Given the description of an element on the screen output the (x, y) to click on. 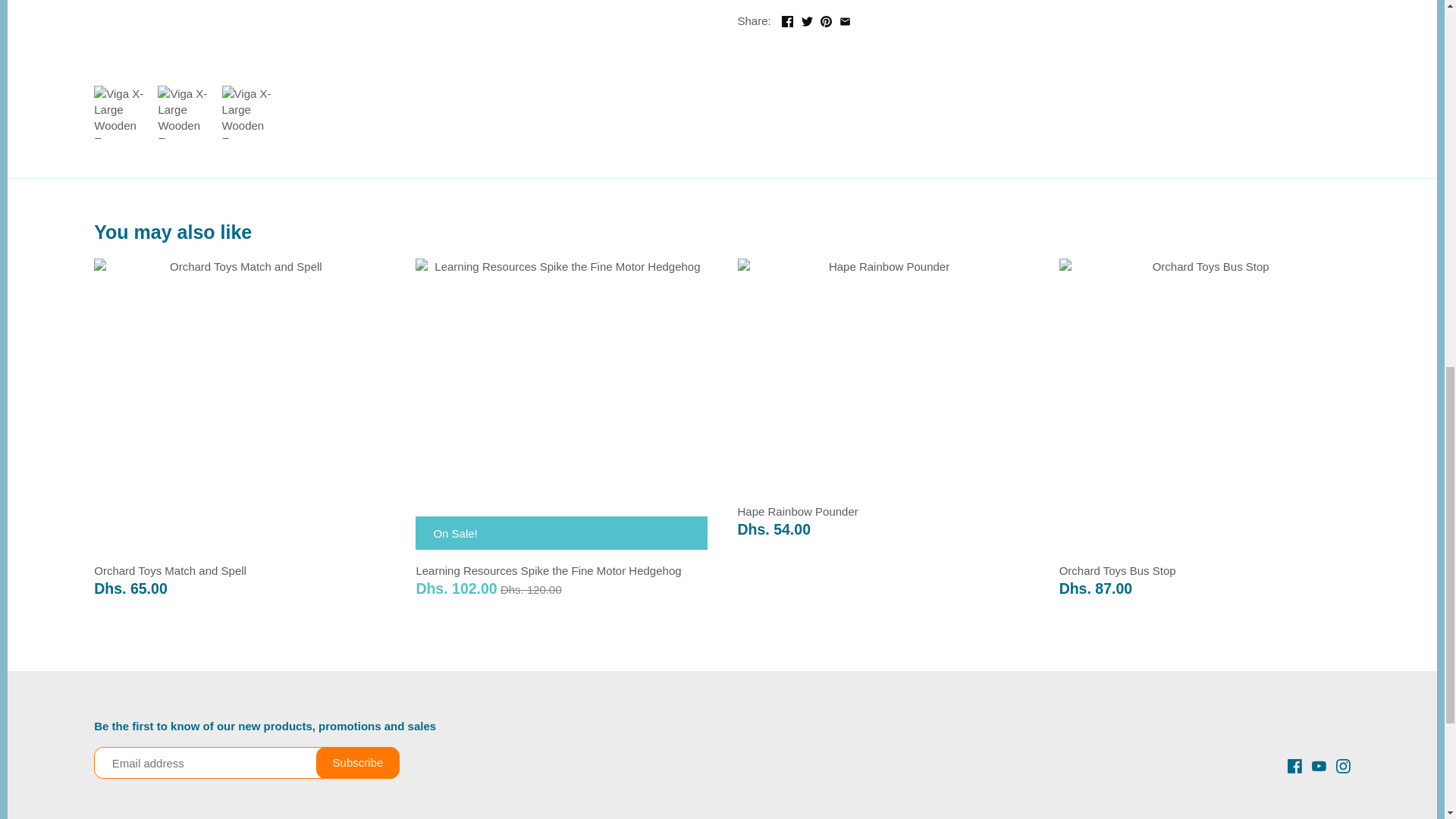
Subscribe (357, 762)
Share using email (845, 19)
Email (845, 21)
Facebook (1294, 766)
Youtube (1318, 764)
Instagram (1342, 766)
Share on Facebook (787, 19)
Pin the main image (826, 19)
Facebook (1294, 764)
Twitter (807, 21)
Pinterest (826, 21)
Share on Twitter (807, 19)
Facebook (787, 21)
Youtube (1318, 766)
Instagram (1343, 764)
